Given the description of an element on the screen output the (x, y) to click on. 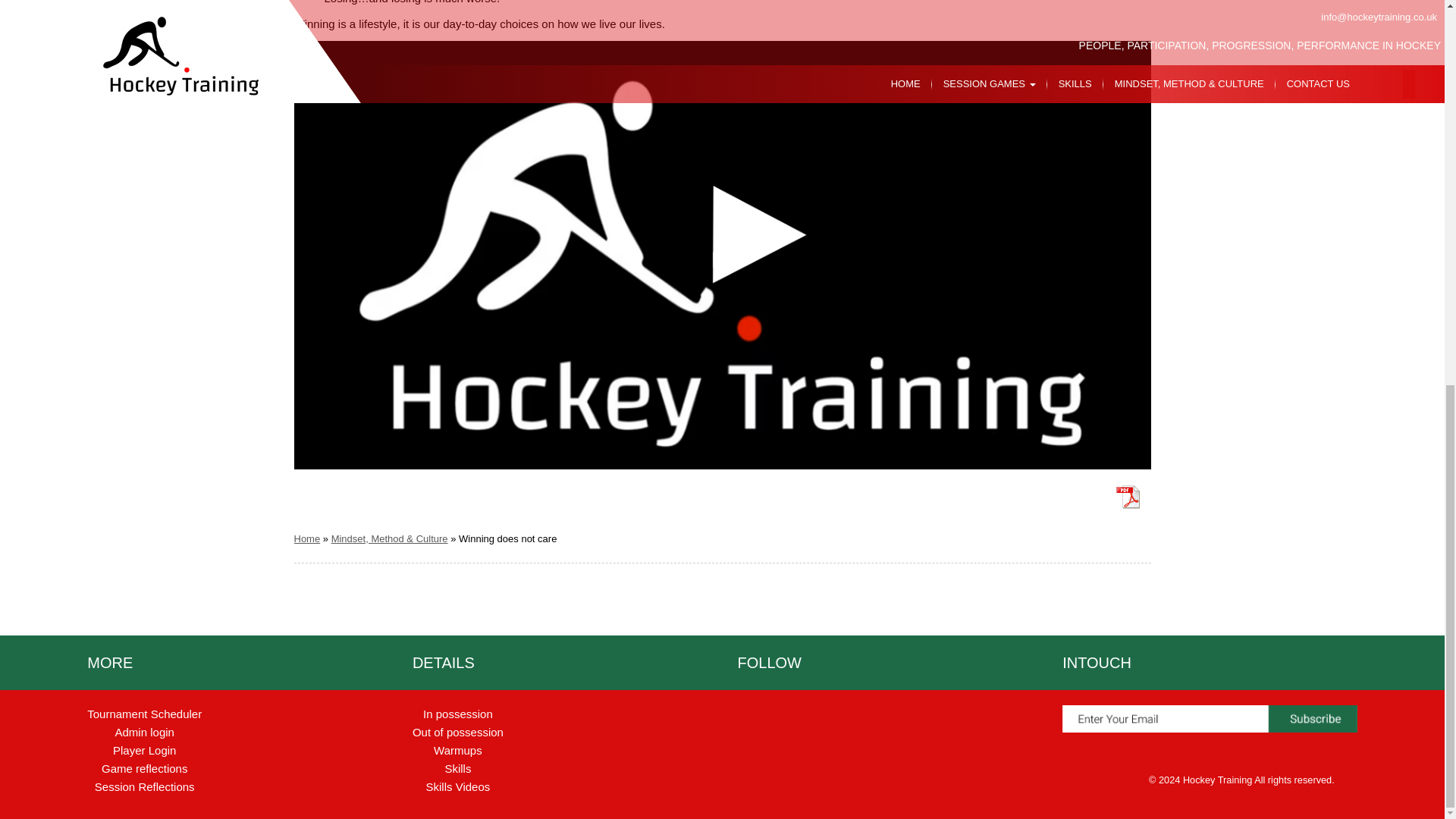
Home (307, 538)
Game reflections (144, 768)
Tournament Scheduler (144, 713)
Player Login (144, 749)
Admin login (144, 731)
Skills Videos (458, 786)
Warmups (457, 749)
Skills (457, 768)
Out of possession (457, 731)
Session Reflections (144, 786)
